Given the description of an element on the screen output the (x, y) to click on. 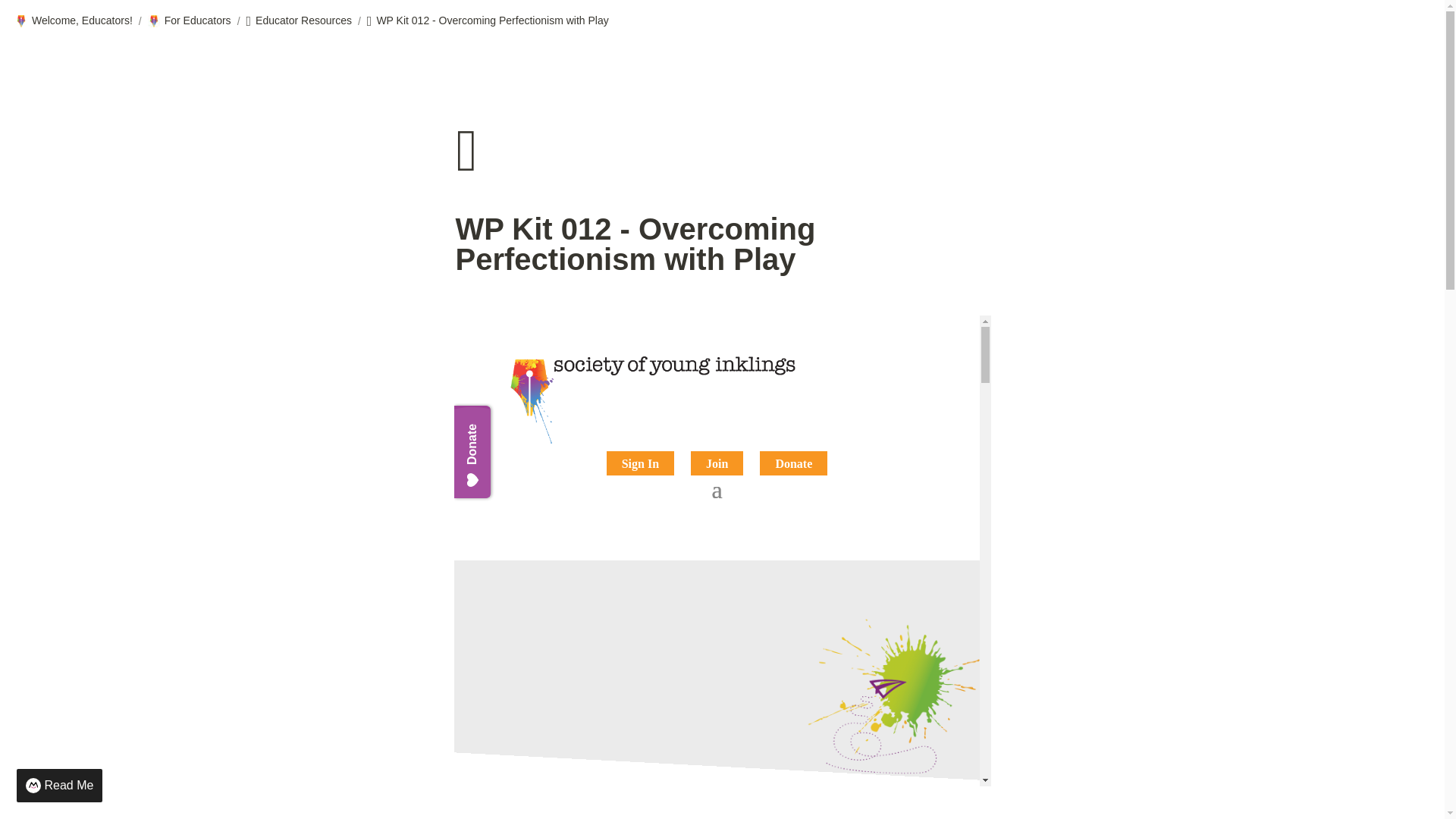
For Educators (188, 21)
Welcome, Educators! (73, 21)
